Given the description of an element on the screen output the (x, y) to click on. 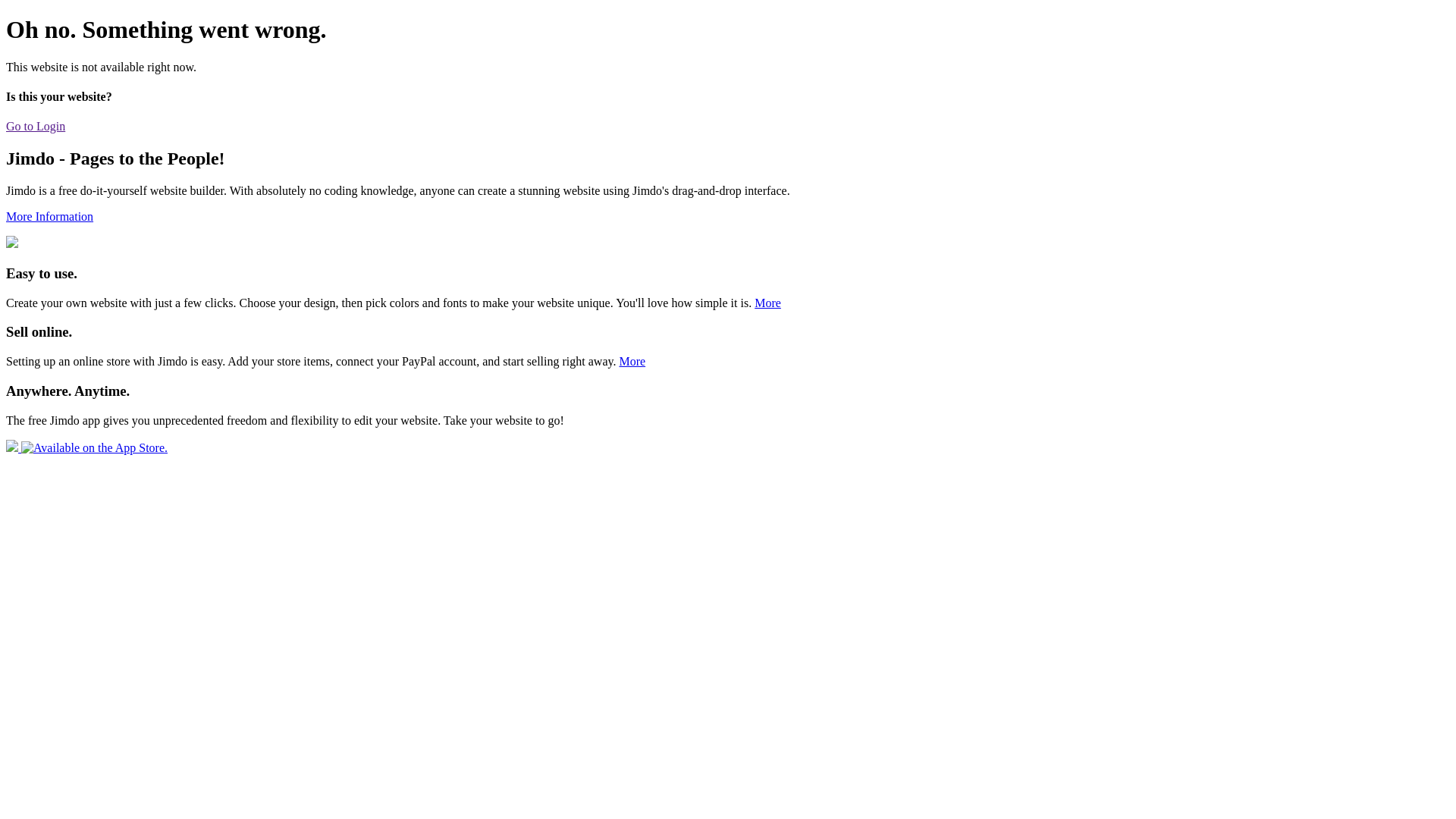
Available on the App Store. Element type: hover (86, 447)
More Element type: text (631, 360)
More Element type: text (767, 302)
Go to Login Element type: text (35, 125)
More Information Element type: text (49, 216)
